Given the description of an element on the screen output the (x, y) to click on. 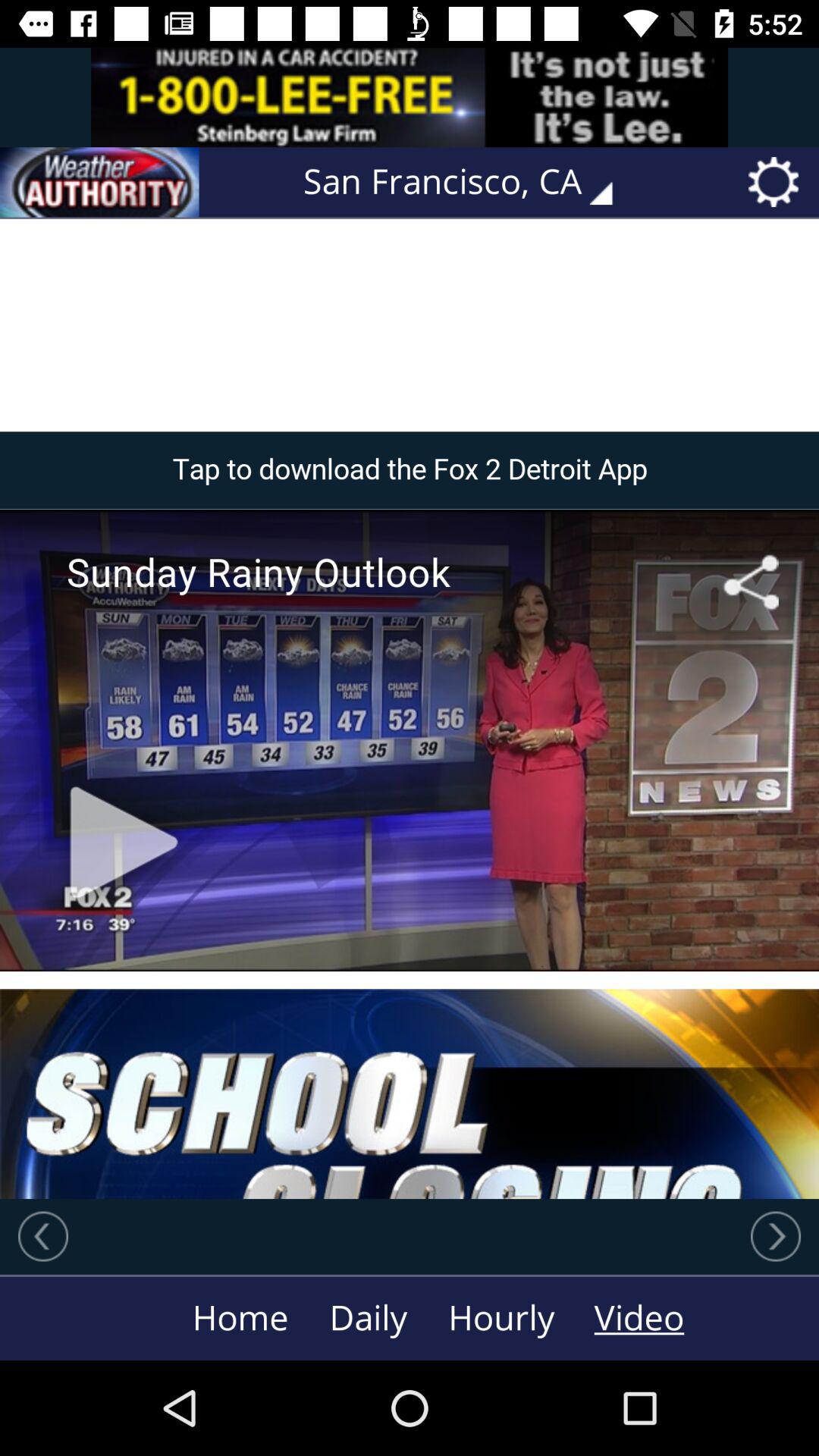
link to advertisement (409, 97)
